Given the description of an element on the screen output the (x, y) to click on. 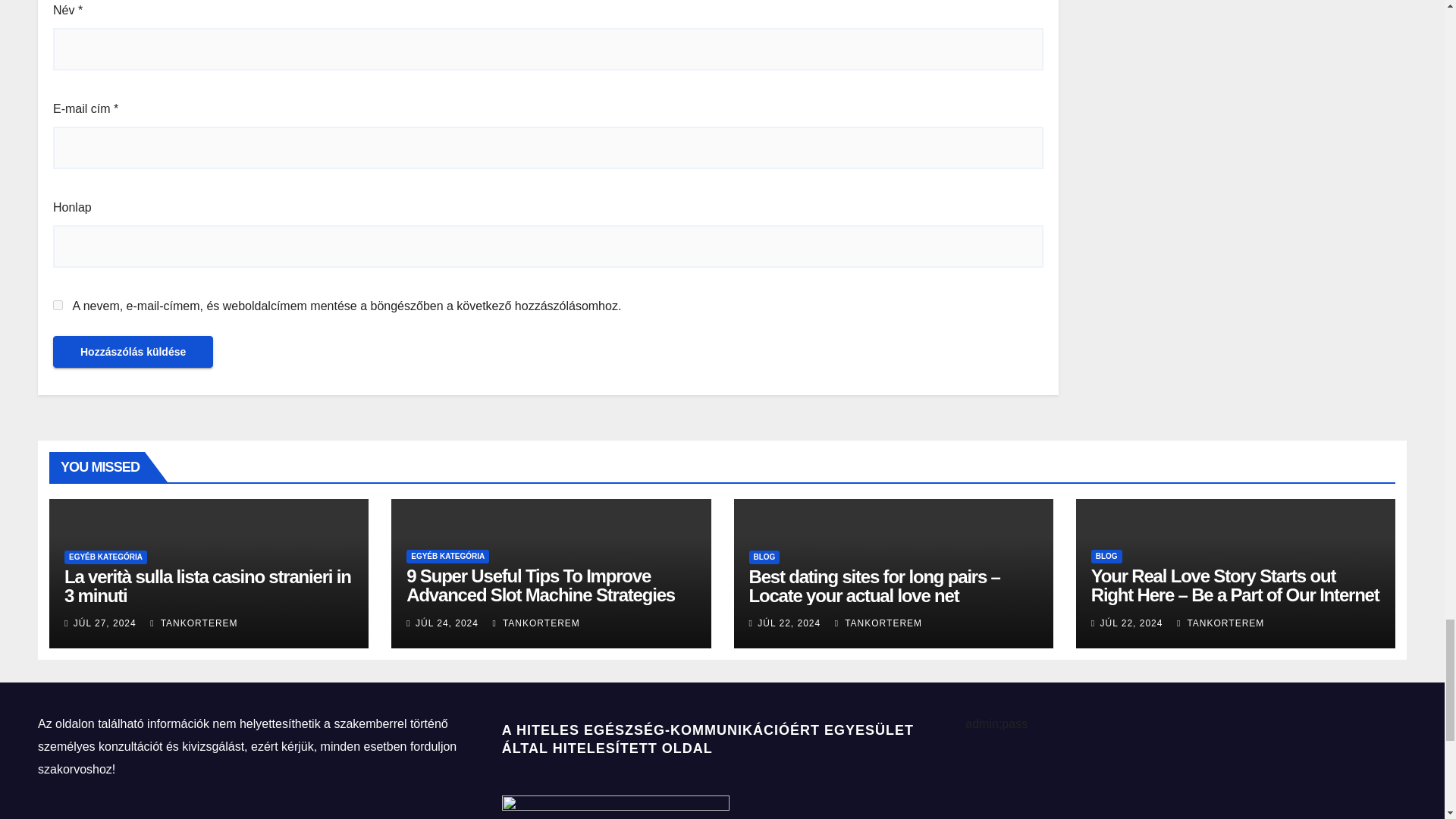
yes (57, 305)
